Given the description of an element on the screen output the (x, y) to click on. 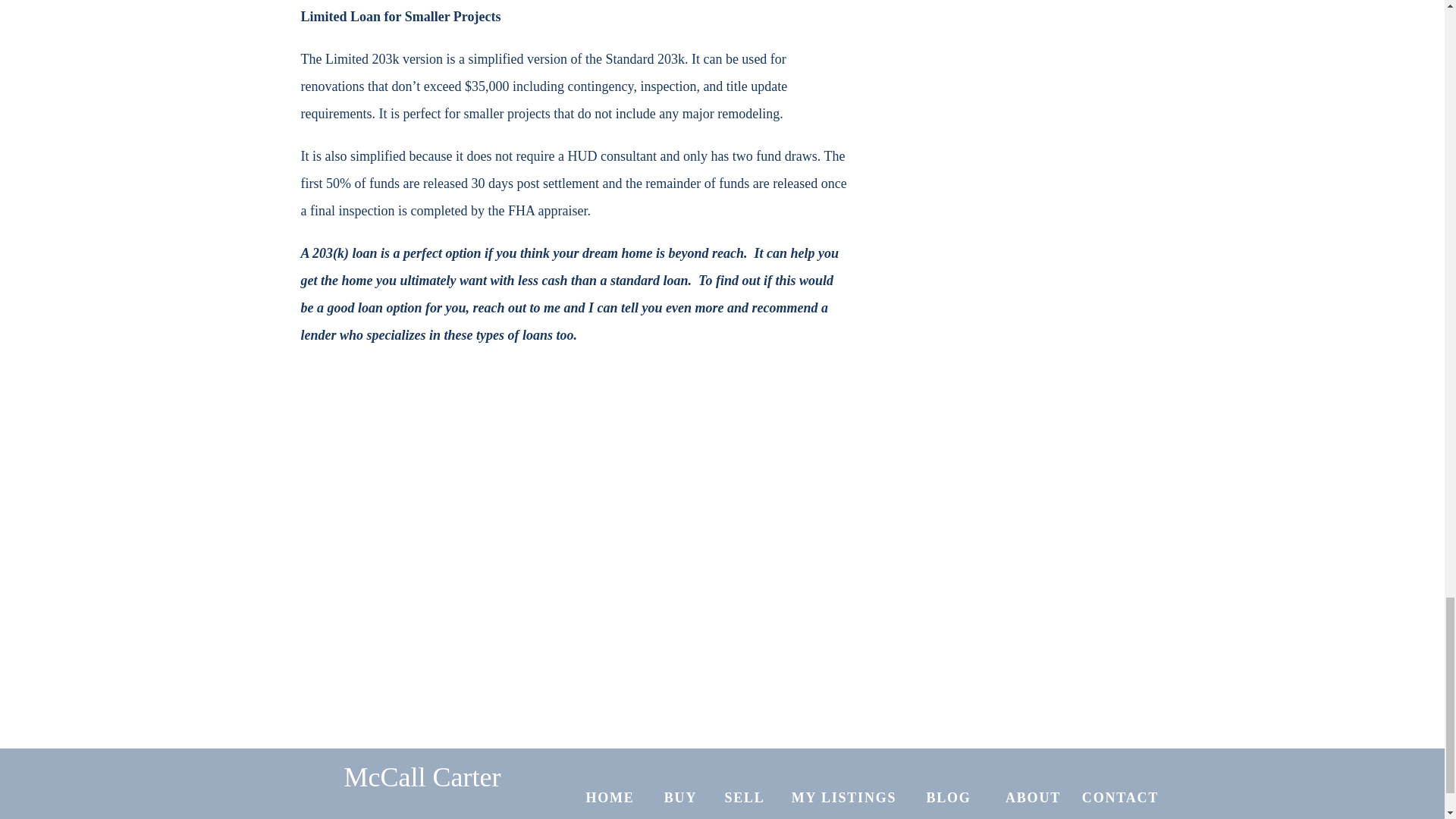
HOME (609, 794)
MY LISTINGS (844, 794)
SELL (745, 794)
CONTACT (1120, 794)
McCall Carter (421, 790)
ABOUT (1032, 794)
BUY (680, 794)
BLOG (949, 794)
